Given the description of an element on the screen output the (x, y) to click on. 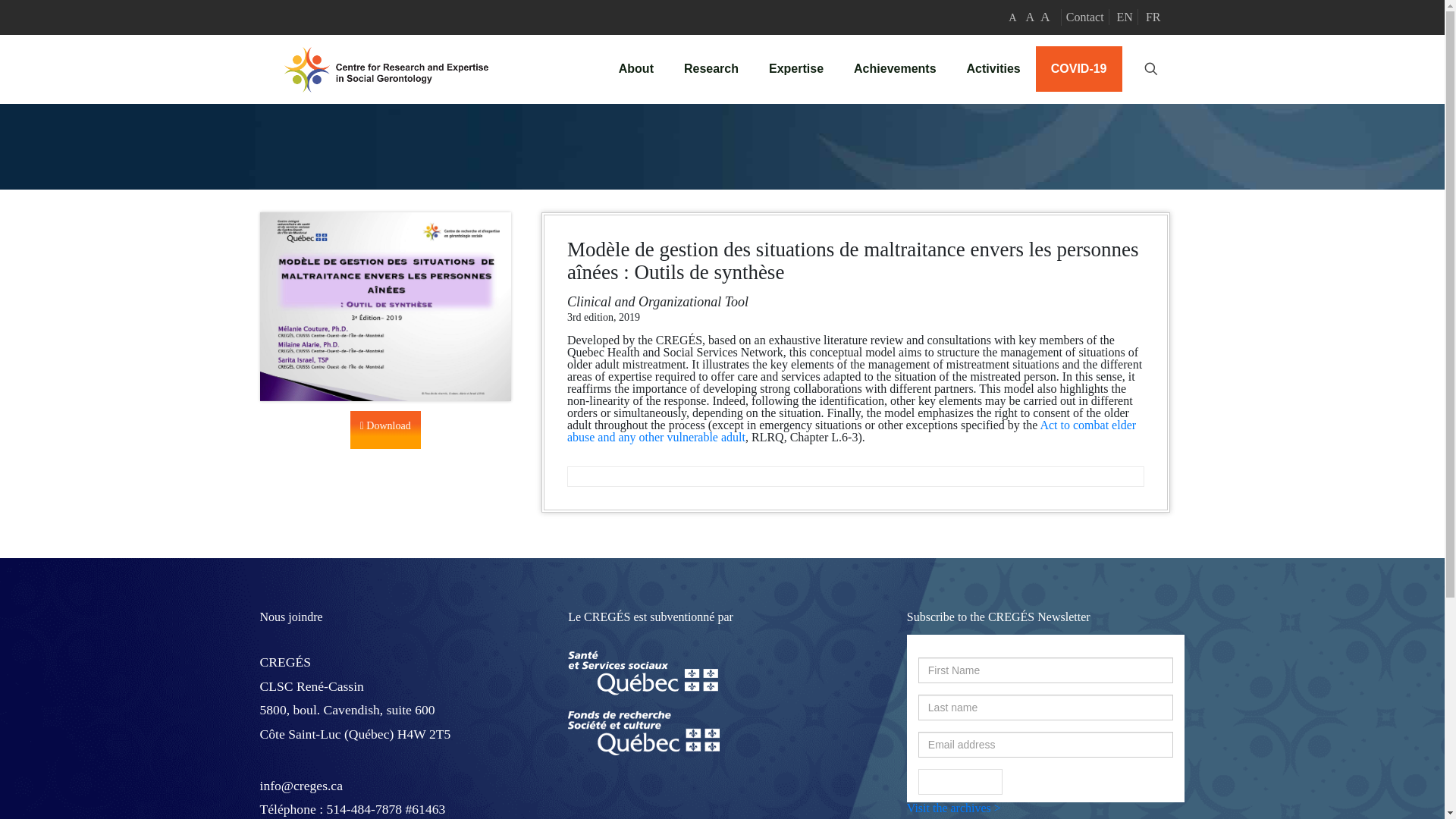
EN (1124, 17)
About (636, 69)
EN (1124, 17)
Contact (1084, 16)
FR (1152, 17)
Expertise (796, 69)
Achievements (895, 69)
Research (711, 69)
FR (1152, 17)
